Given the description of an element on the screen output the (x, y) to click on. 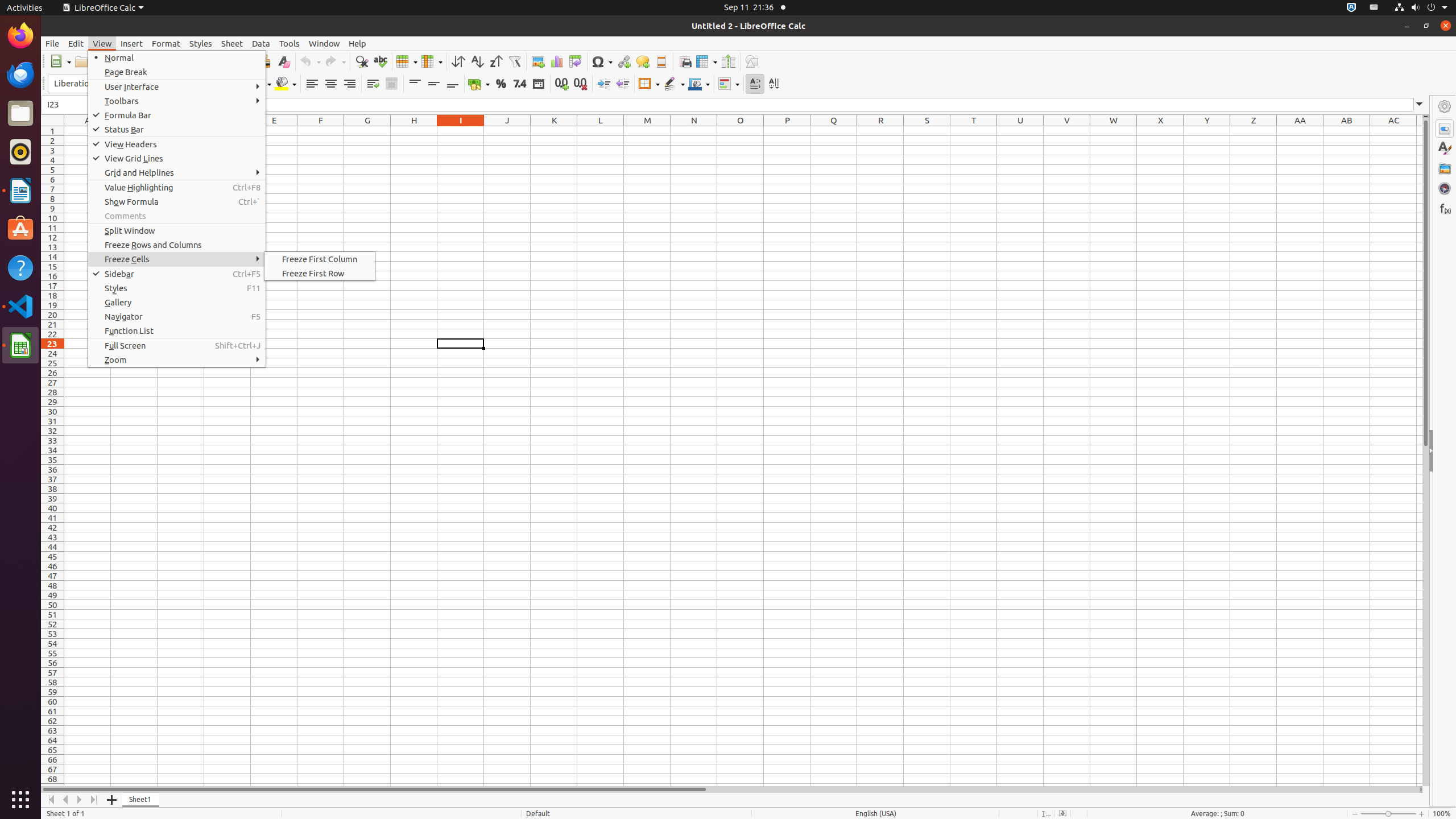
Currency Element type: push-button (478, 83)
Function List Element type: check-menu-item (176, 330)
J1 Element type: table-cell (507, 130)
Percent Element type: push-button (500, 83)
